Given the description of an element on the screen output the (x, y) to click on. 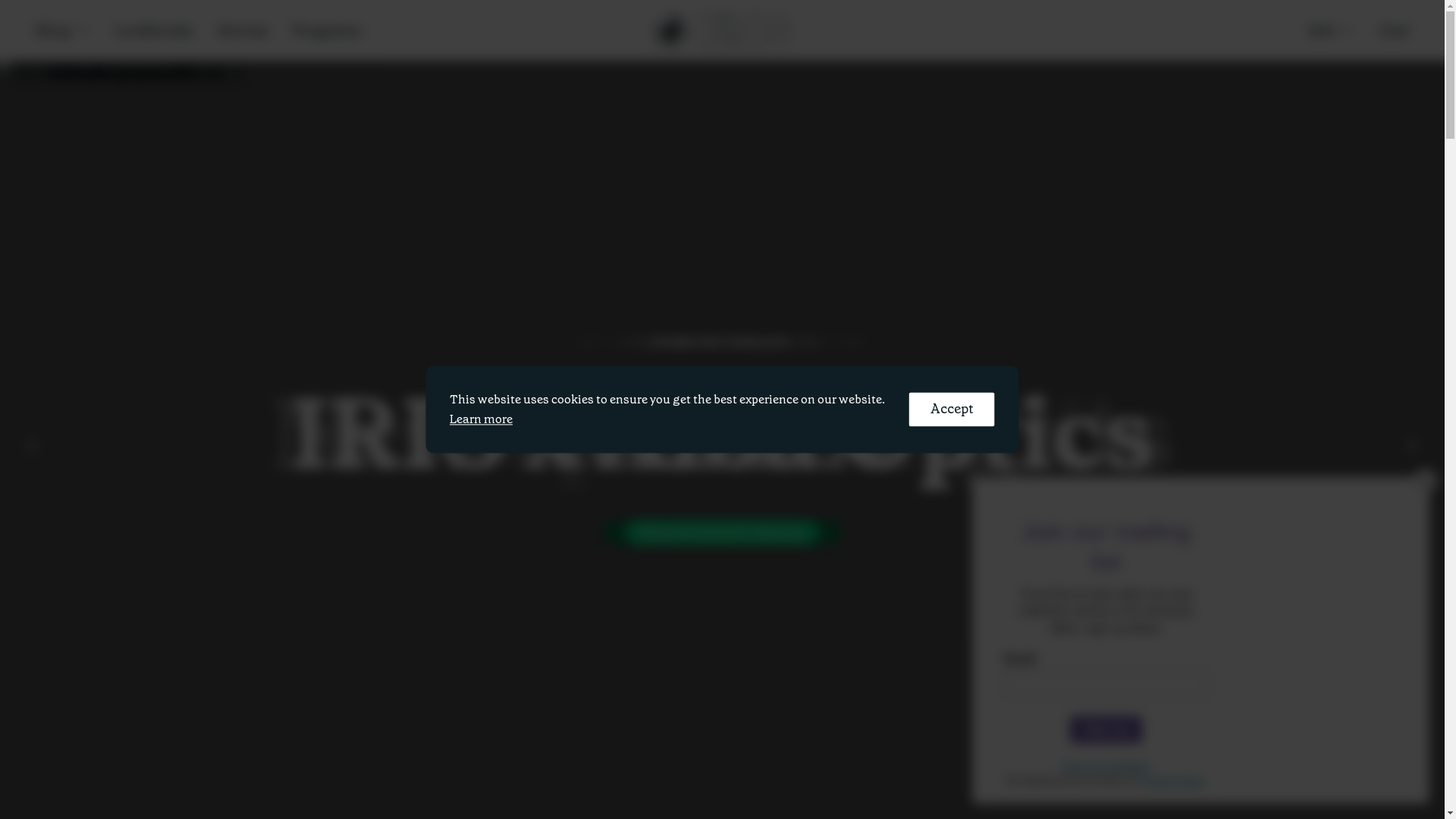
Accept Element type: text (951, 409)
Shop Escape Fri-Yay! Element type: text (722, 531)
Shop Element type: text (62, 30)
Stories Element type: text (242, 30)
Learn more Element type: text (480, 418)
Lookbooks Element type: text (154, 30)
Programs Element type: text (326, 30)
Cart Element type: text (1394, 30)
